Given the description of an element on the screen output the (x, y) to click on. 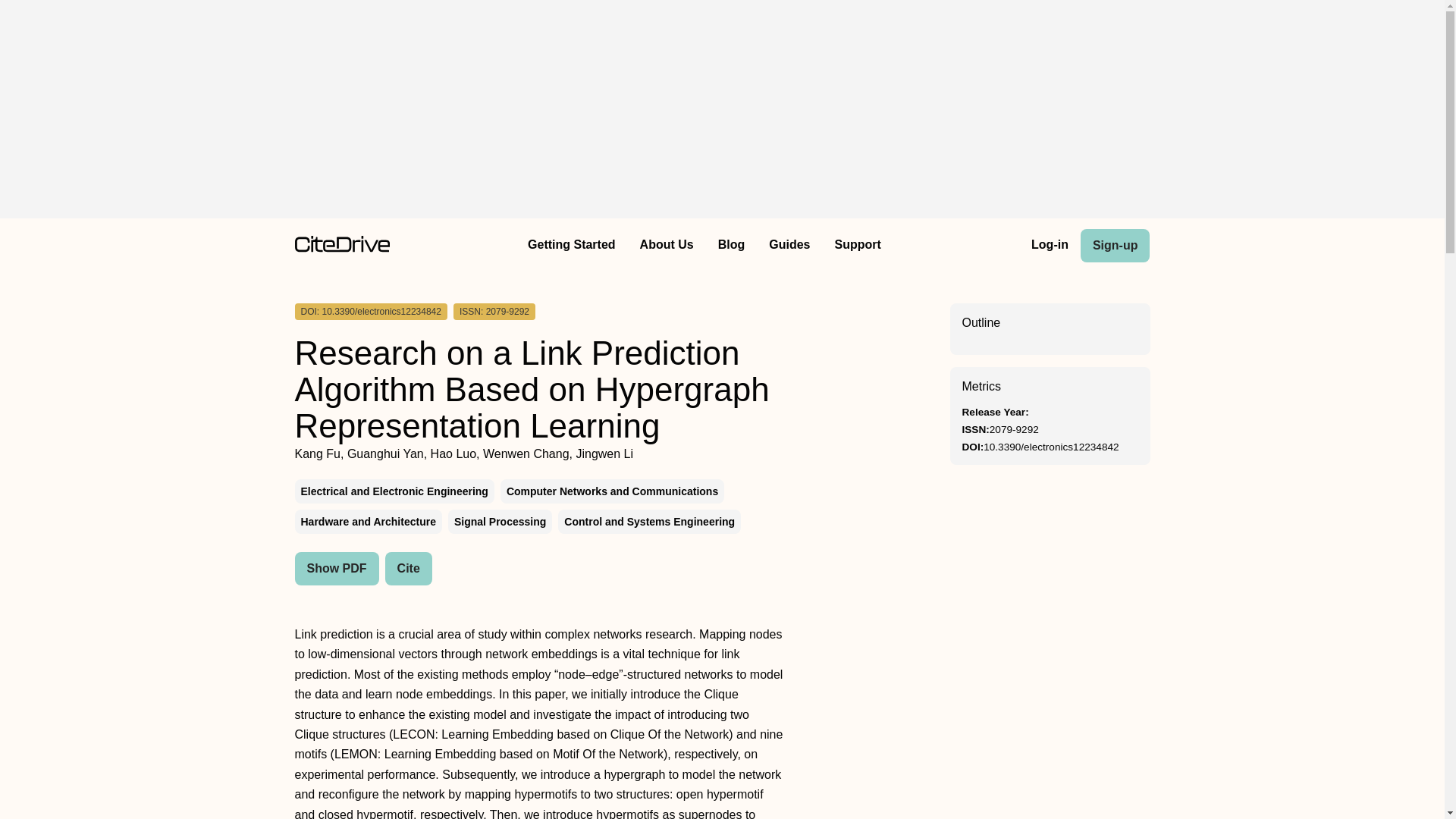
Log-in (1049, 245)
Sign-up (1115, 245)
About Us (666, 245)
Blog (731, 245)
Guides (789, 245)
Show PDF (336, 568)
Getting Started (571, 245)
Cite (408, 568)
Support (857, 245)
